Given the description of an element on the screen output the (x, y) to click on. 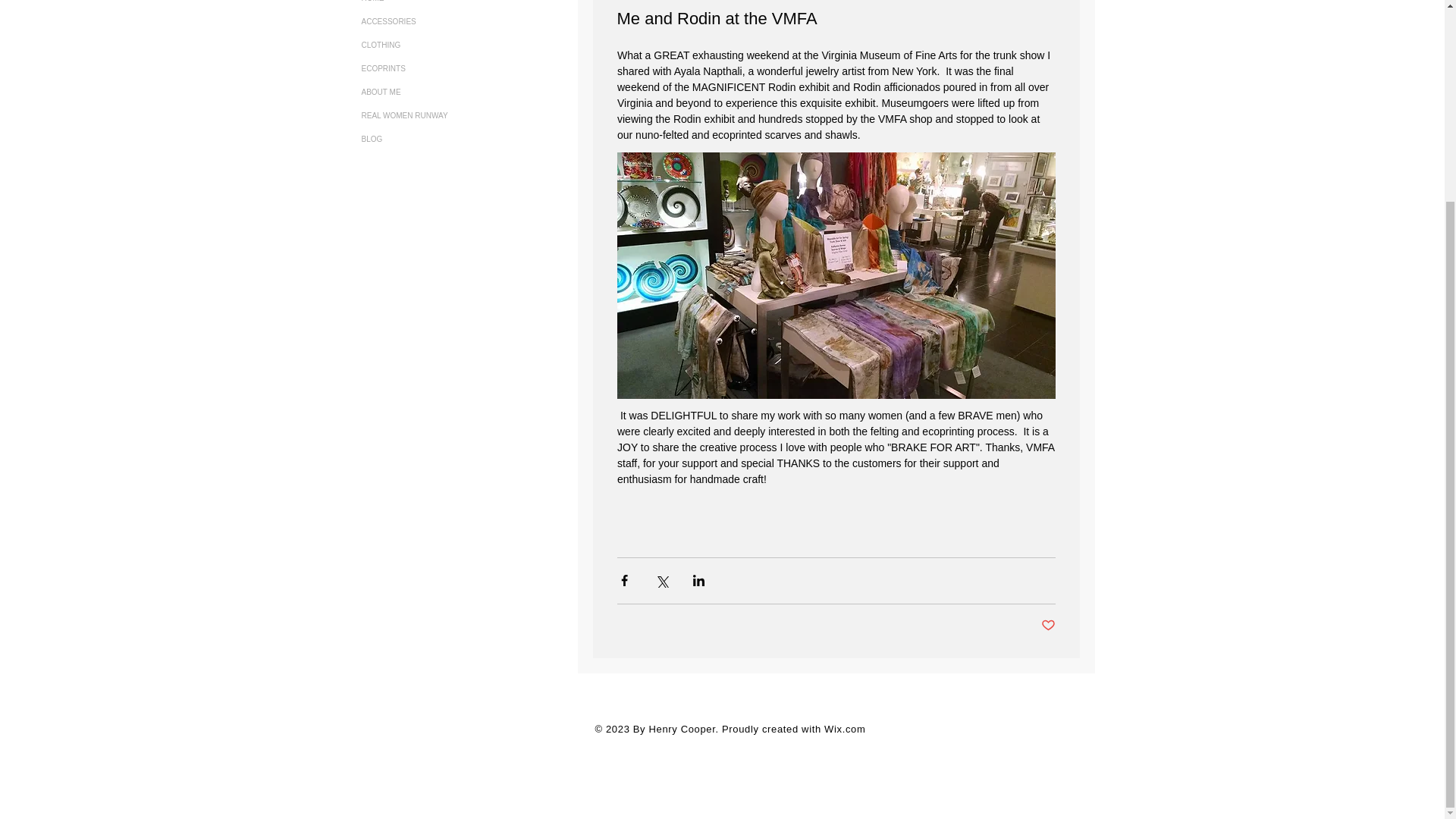
Wix.com (844, 728)
HOME (426, 4)
REAL WOMEN RUNWAY (426, 115)
CLOTHING (426, 44)
Post not marked as liked (1047, 625)
ECOPRINTS (426, 68)
ABOUT ME (426, 92)
ACCESSORIES (426, 21)
BLOG (426, 138)
